Given the description of an element on the screen output the (x, y) to click on. 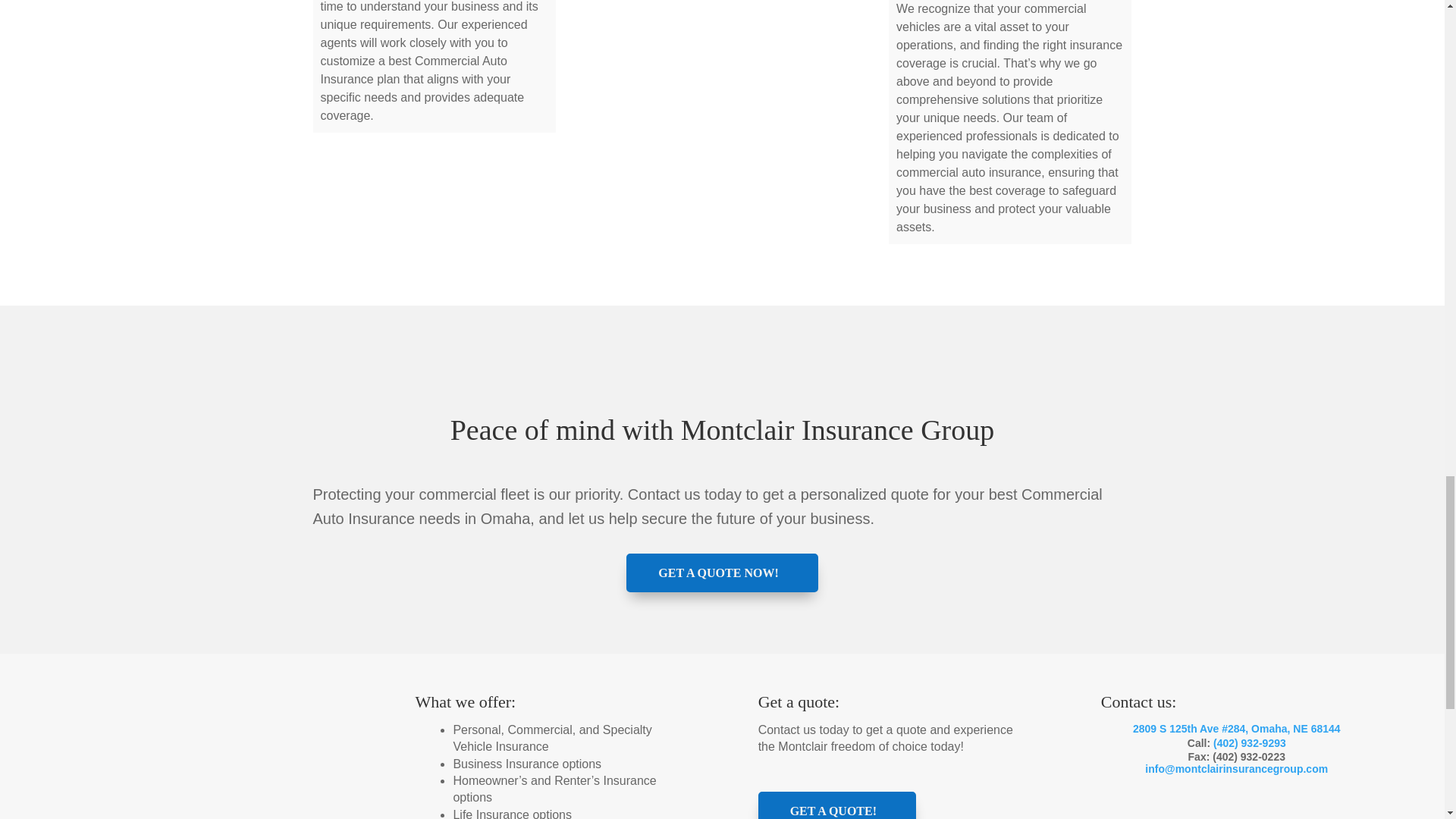
GET A QUOTE NOW! (721, 572)
Click to call! (1248, 743)
GET A QUOTE! (836, 805)
